Given the description of an element on the screen output the (x, y) to click on. 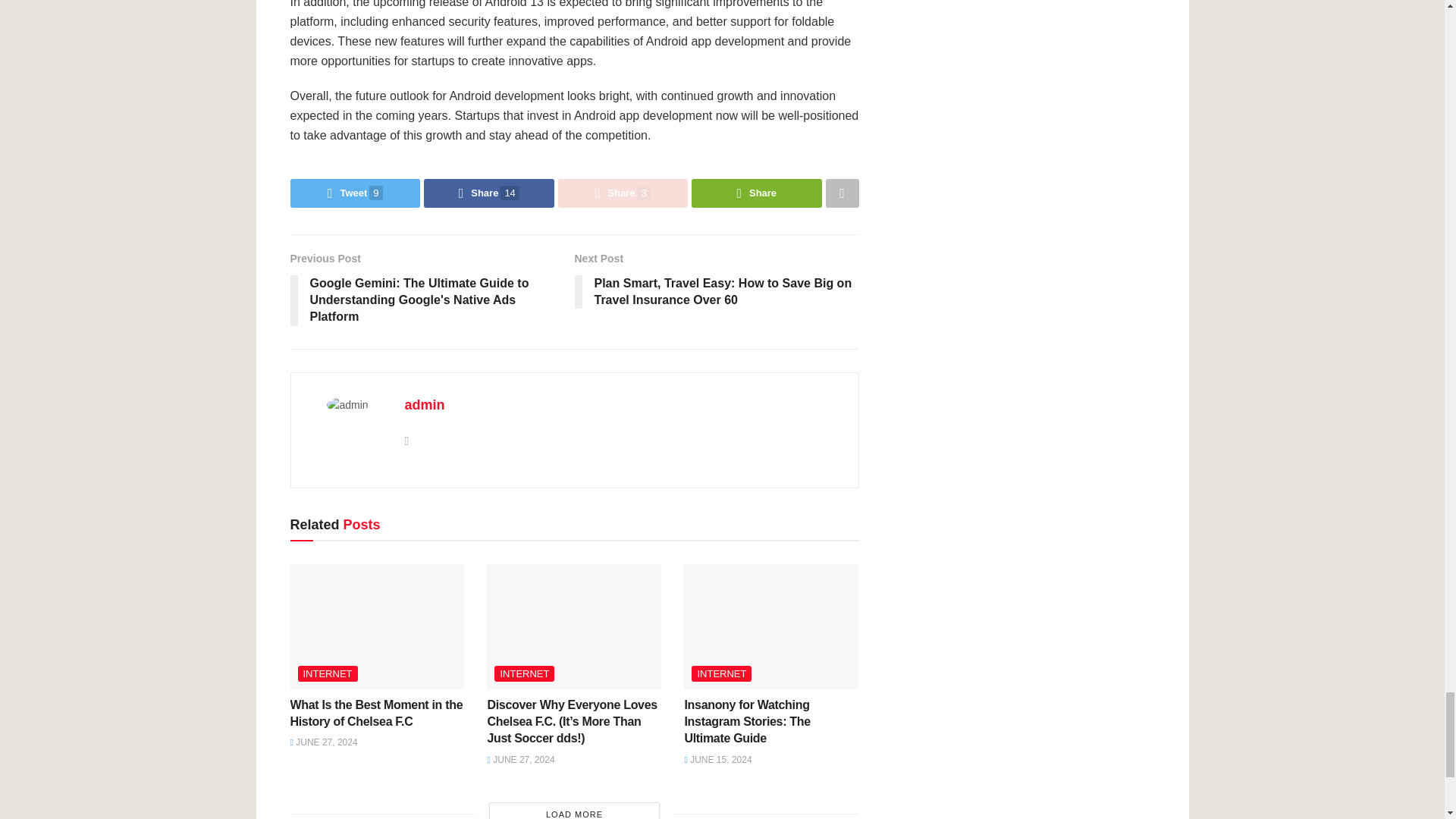
Tweet9 (354, 193)
Share14 (488, 193)
Share (756, 193)
Share3 (622, 193)
